Given the description of an element on the screen output the (x, y) to click on. 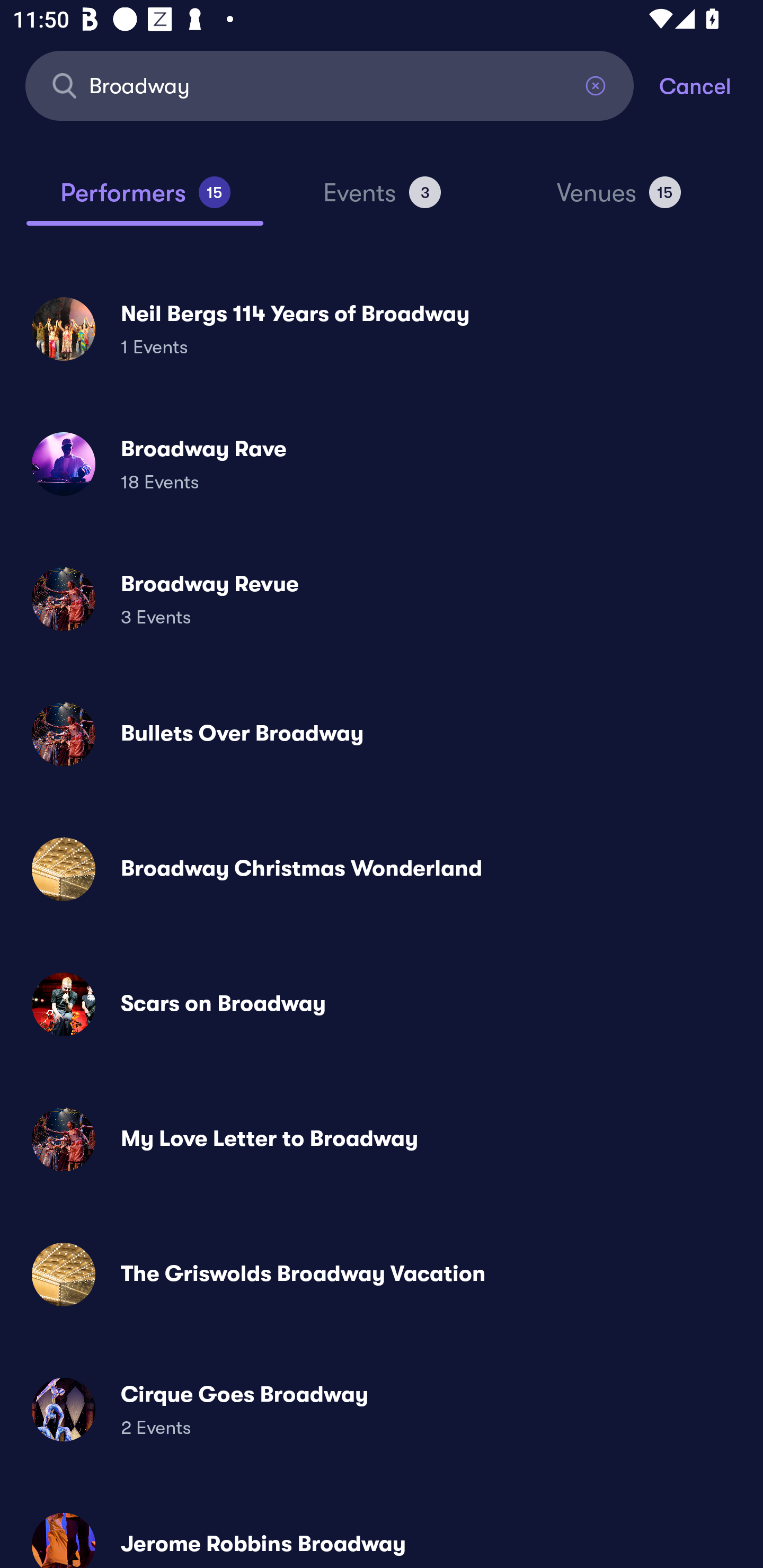
Broadway Find (329, 85)
Broadway Find (329, 85)
Cancel (711, 85)
Performers 15 (144, 200)
Events 3 (381, 200)
Venues 15 (618, 200)
Neil Bergs 114 Years of Broadway 1 Events (381, 328)
Broadway Rave 18 Events (381, 464)
Broadway Revue 3 Events (381, 598)
Bullets Over Broadway (381, 734)
Broadway Christmas Wonderland (381, 869)
Scars on Broadway (381, 1004)
My Love Letter to Broadway (381, 1138)
The Griswolds Broadway Vacation (381, 1273)
Cirque Goes Broadway 2 Events (381, 1409)
Jerome Robbins Broadway (381, 1532)
